Given the description of an element on the screen output the (x, y) to click on. 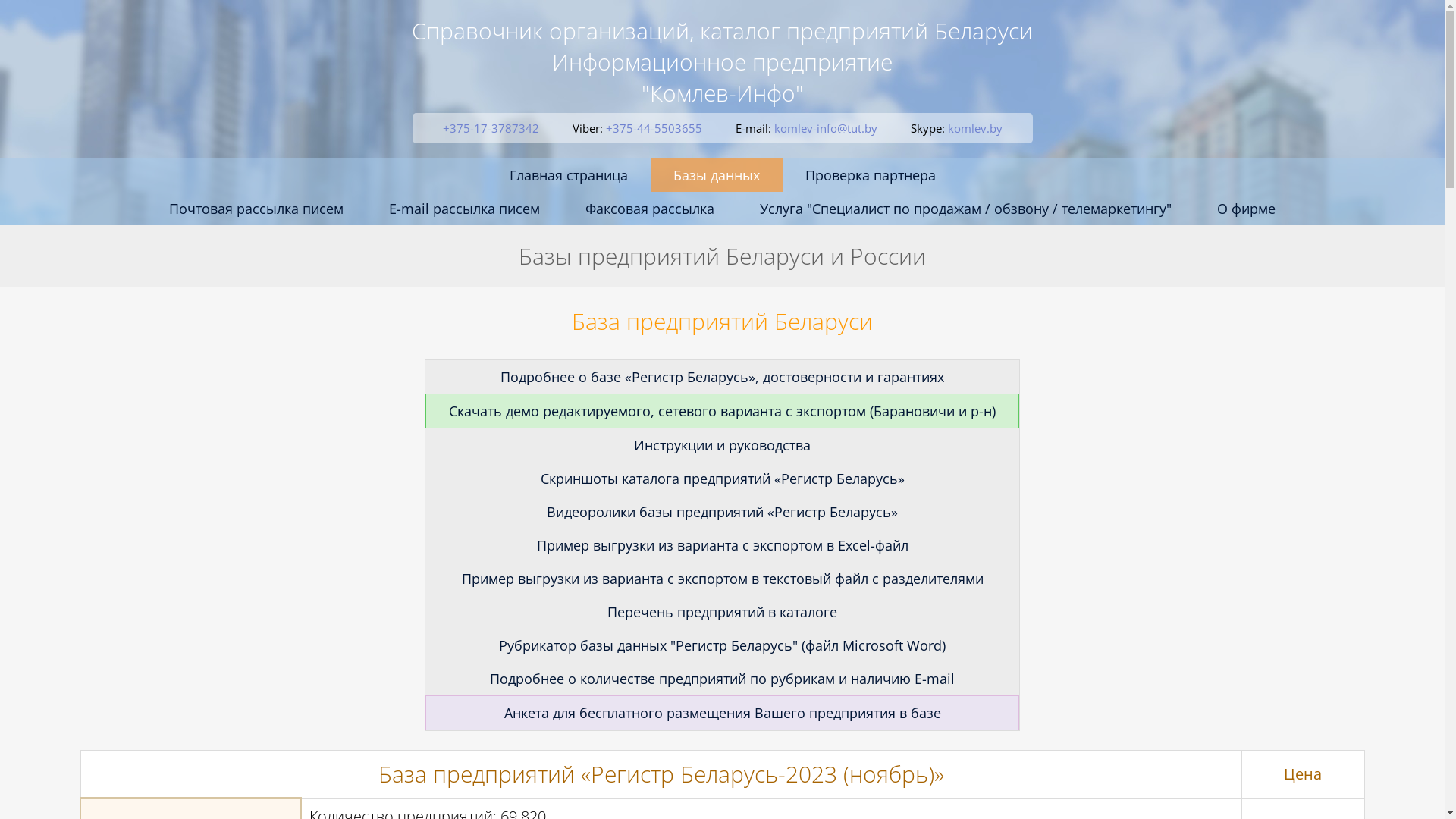
komlev.by Element type: text (974, 127)
komlev-info@tut.by Element type: text (824, 127)
+375-44-5503655 Element type: text (653, 127)
+375-17-3787342 Element type: text (490, 127)
